Given the description of an element on the screen output the (x, y) to click on. 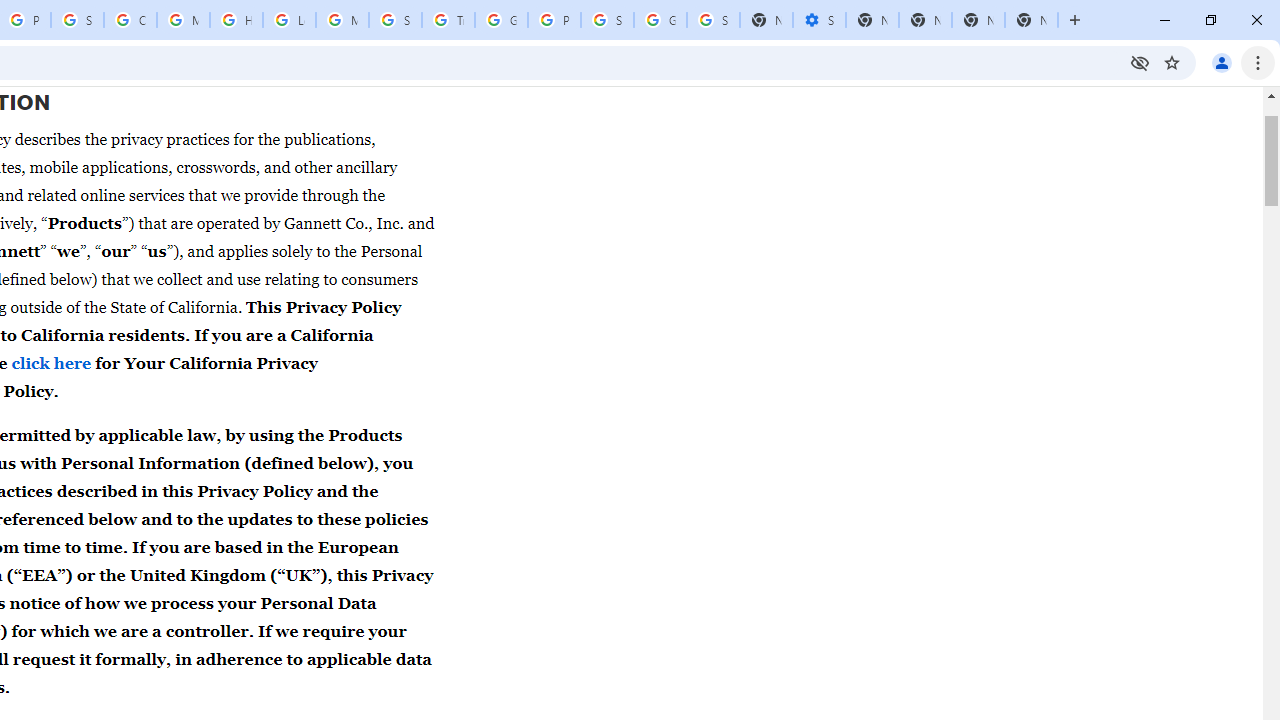
Sign in - Google Accounts (77, 20)
Trusted Information and Content - Google Safety Center (448, 20)
Minimize (1165, 20)
click here (51, 362)
Third-party cookies blocked (1139, 62)
Chrome (1260, 62)
